Given the description of an element on the screen output the (x, y) to click on. 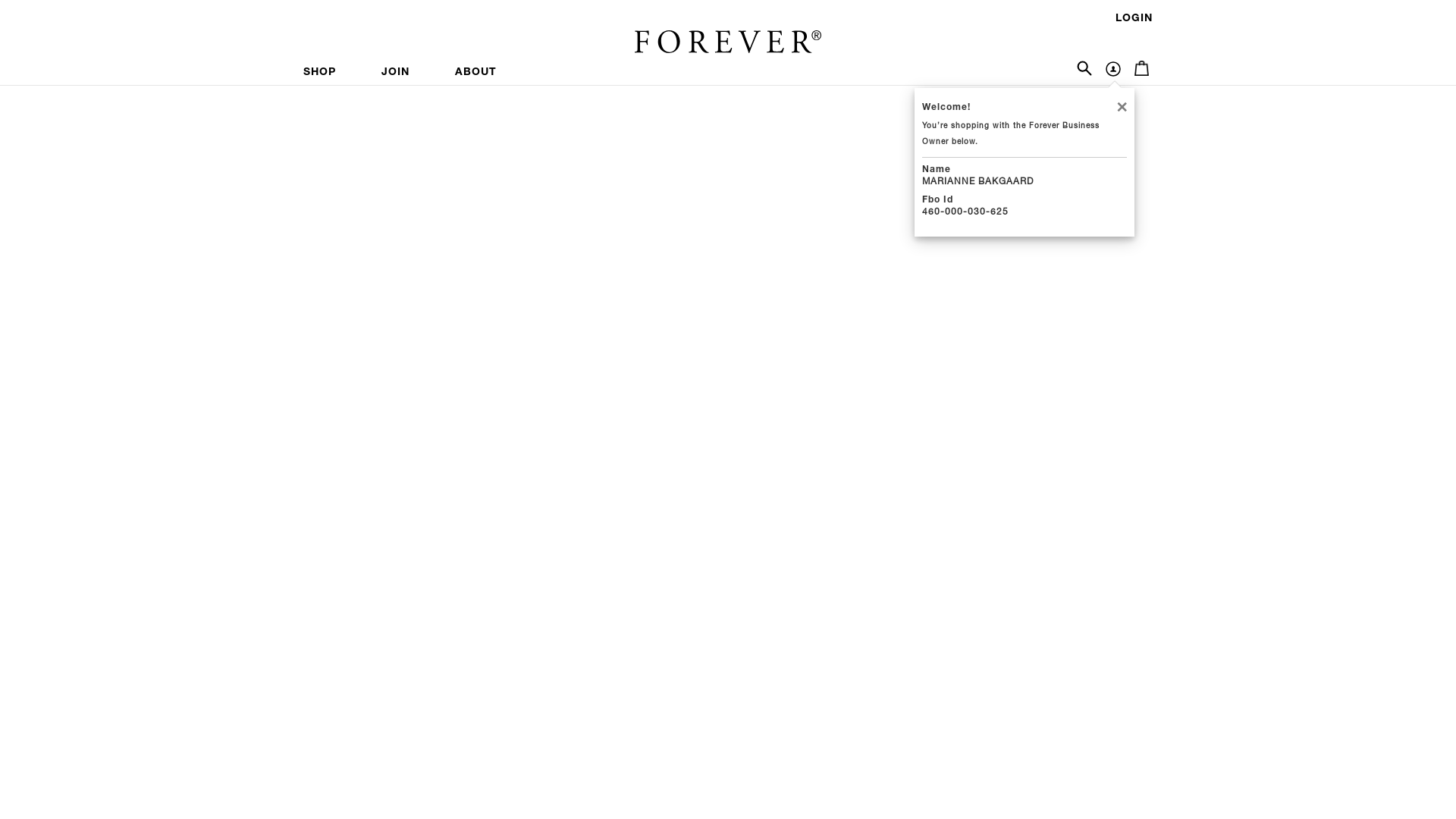
ABOUT Element type: text (475, 72)
SHOP Element type: text (330, 72)
JOIN Element type: text (395, 72)
LOGIN Element type: text (1133, 18)
